Given the description of an element on the screen output the (x, y) to click on. 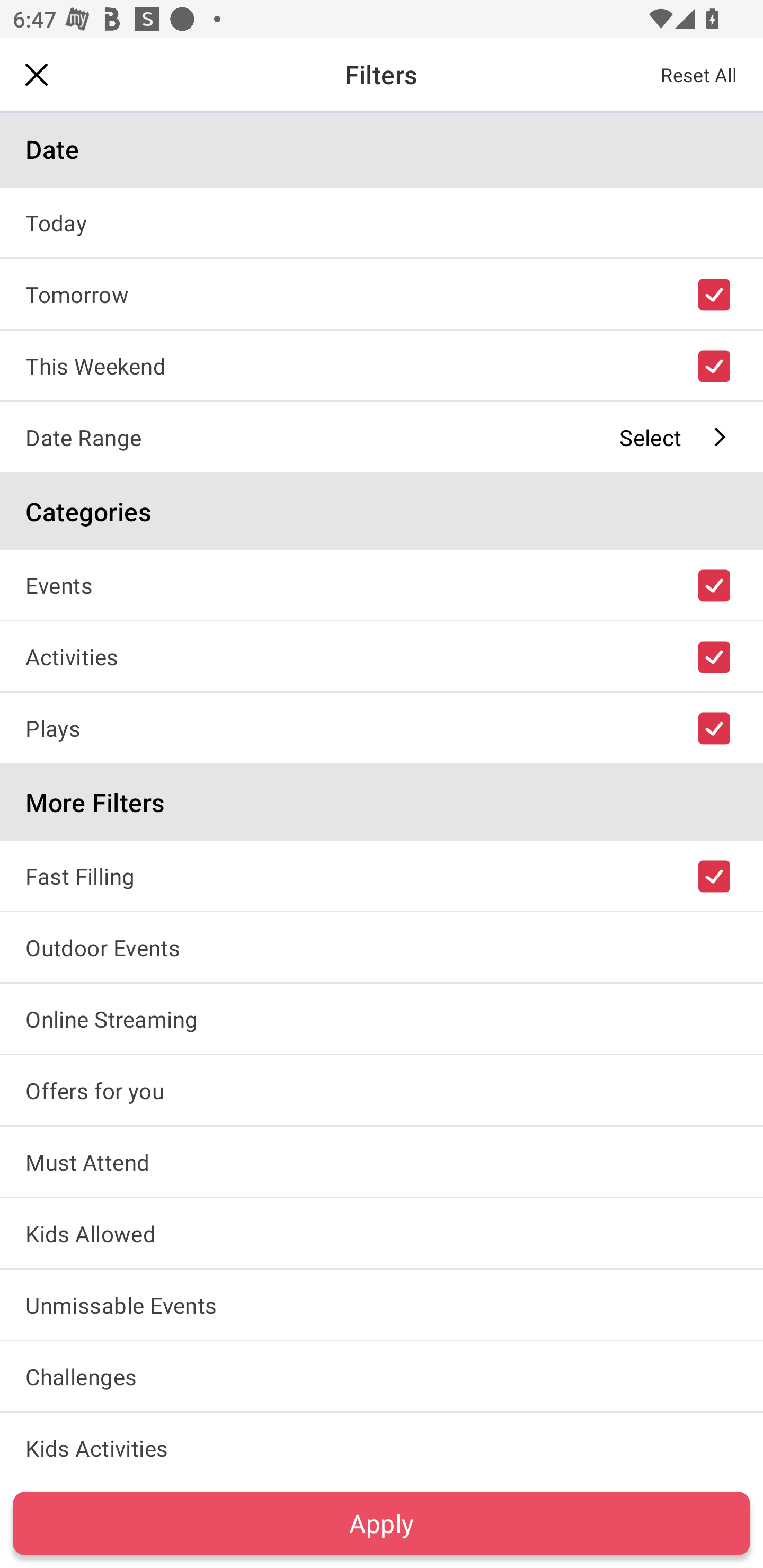
Close (36, 74)
Reset All (699, 74)
Today (381, 222)
Tomorrow  (381, 293)
This Weekend  (381, 364)
Date Range Select  Next (381, 436)
Events  (381, 584)
Activities  (381, 655)
Plays  (381, 727)
Fast Filling  (381, 875)
Outdoor Events (381, 946)
Online Streaming (381, 1018)
Offers for you (381, 1090)
Must Attend (381, 1161)
Kids Allowed (381, 1232)
Unmissable Events (381, 1304)
Challenges (381, 1375)
Kids Activities (381, 1445)
Apply (381, 1523)
